Given the description of an element on the screen output the (x, y) to click on. 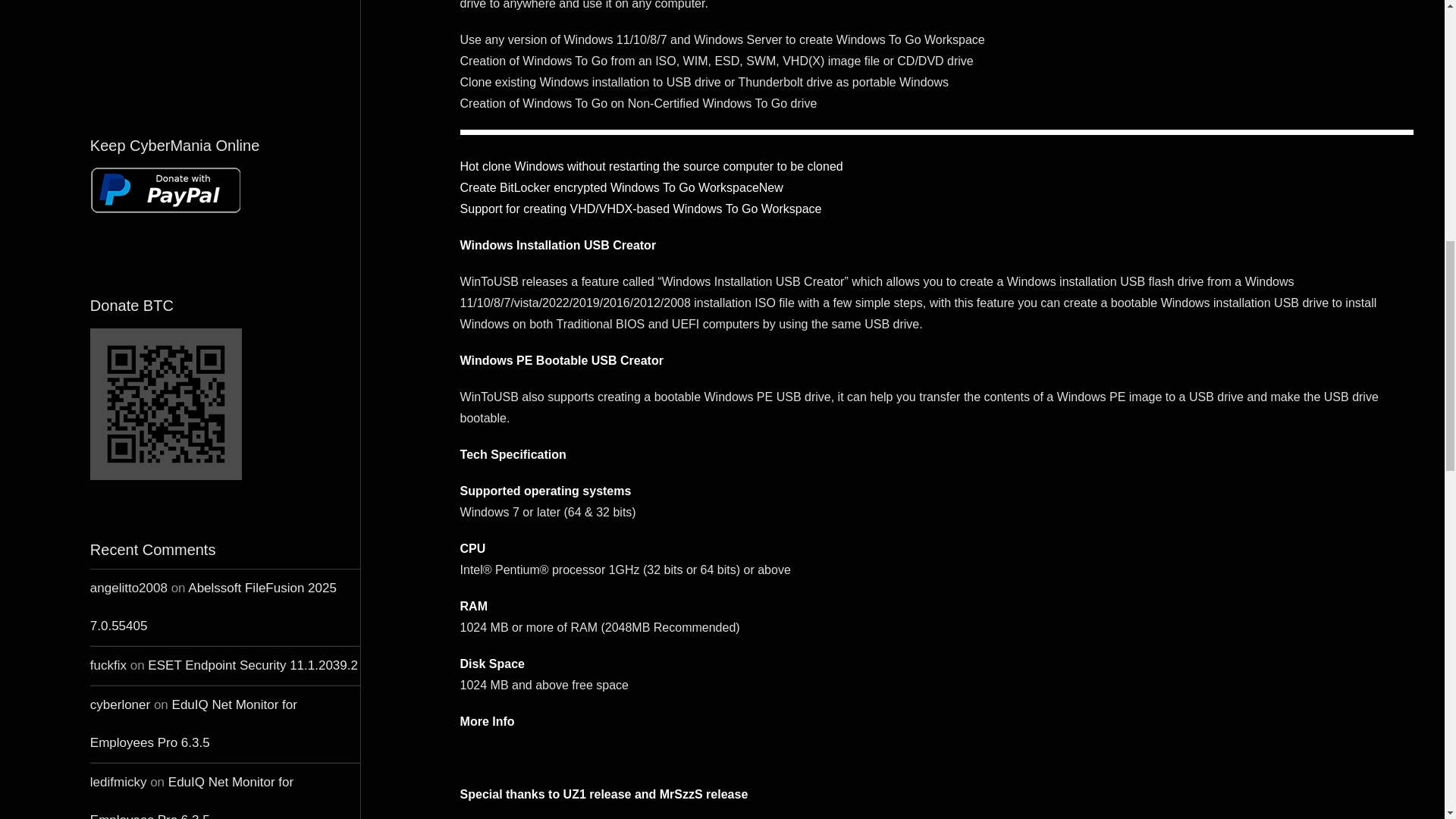
EduIQ Net Monitor for Employees Pro 6.3.5 (192, 796)
ESET Endpoint Security 11.1.2039.2 (253, 665)
More Info (487, 721)
Advertisement (224, 45)
cyberloner (119, 704)
EduIQ Net Monitor for Employees Pro 6.3.5 (193, 723)
Abelssoft FileFusion 2025 7.0.55405 (213, 606)
